Given the description of an element on the screen output the (x, y) to click on. 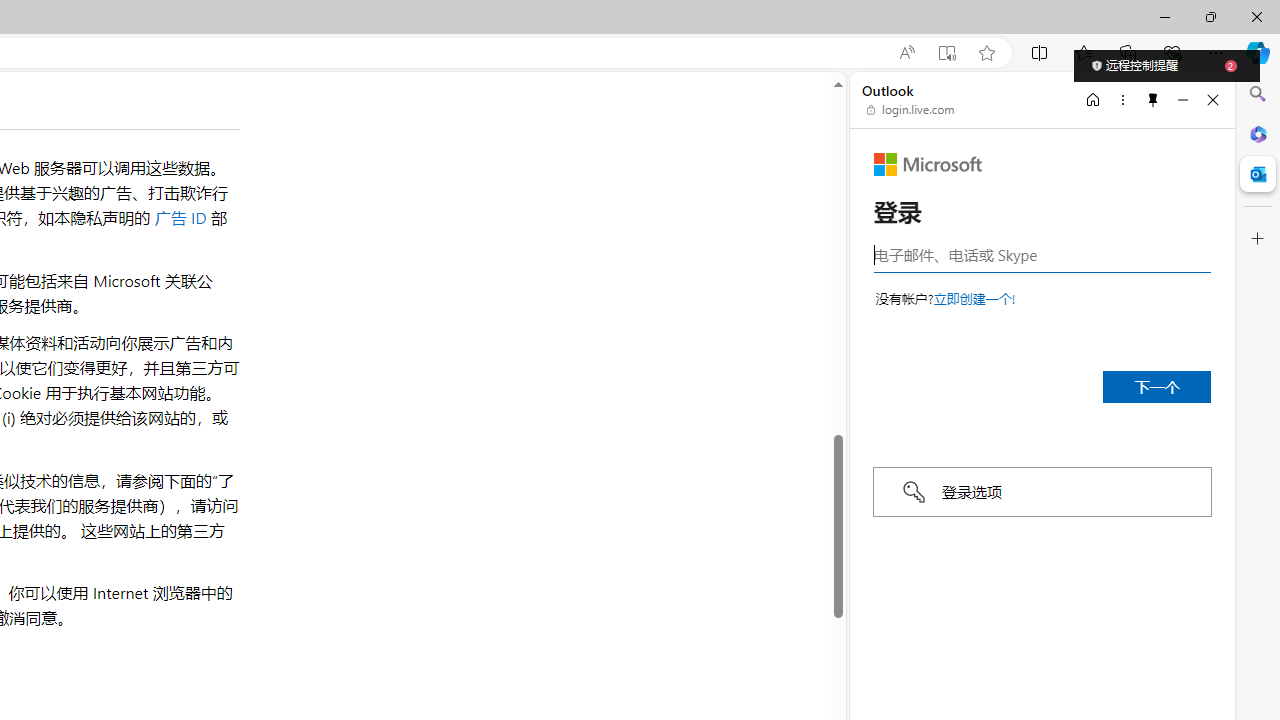
login.live.com (911, 110)
